Given the description of an element on the screen output the (x, y) to click on. 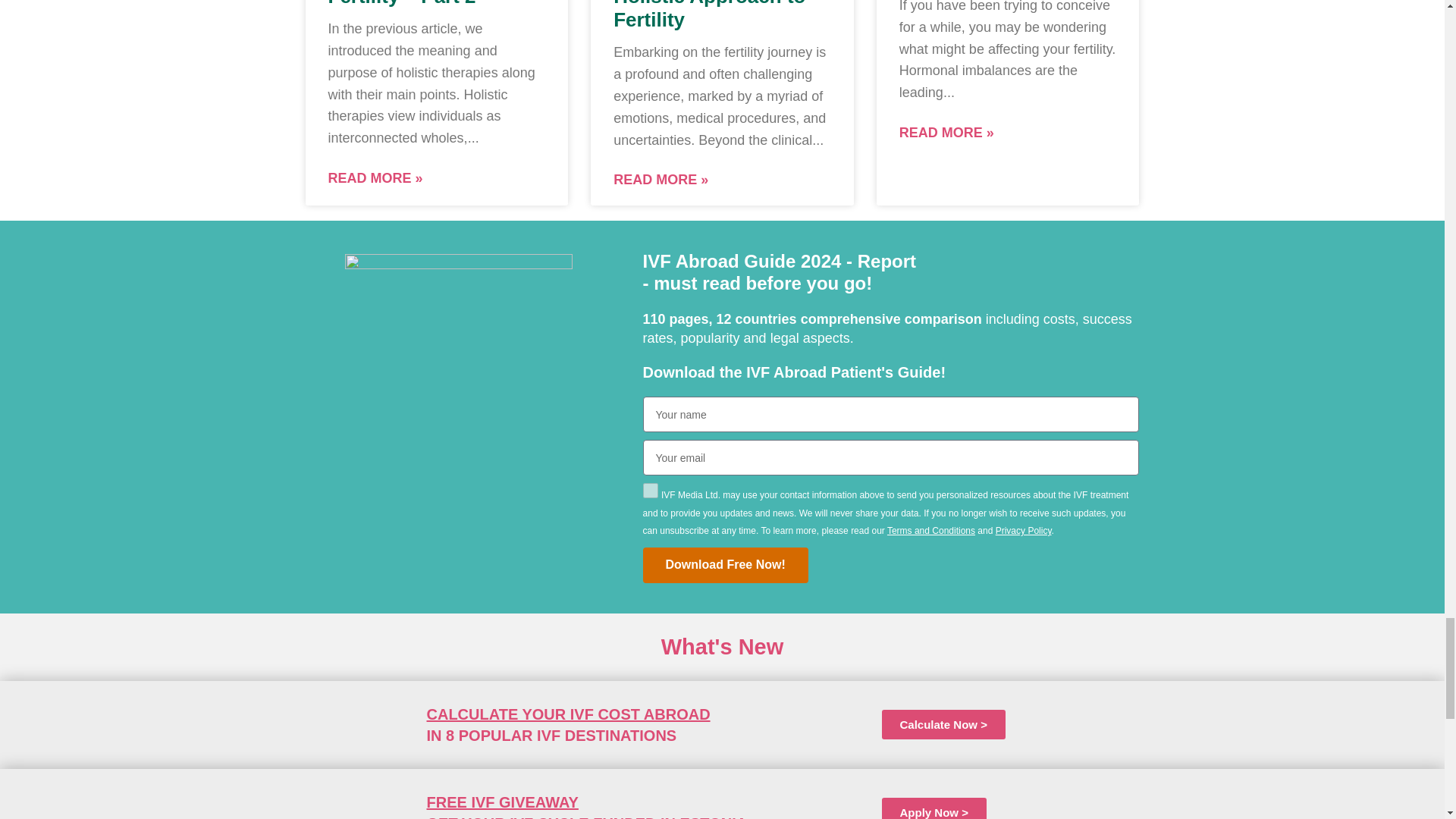
on (650, 490)
